Given the description of an element on the screen output the (x, y) to click on. 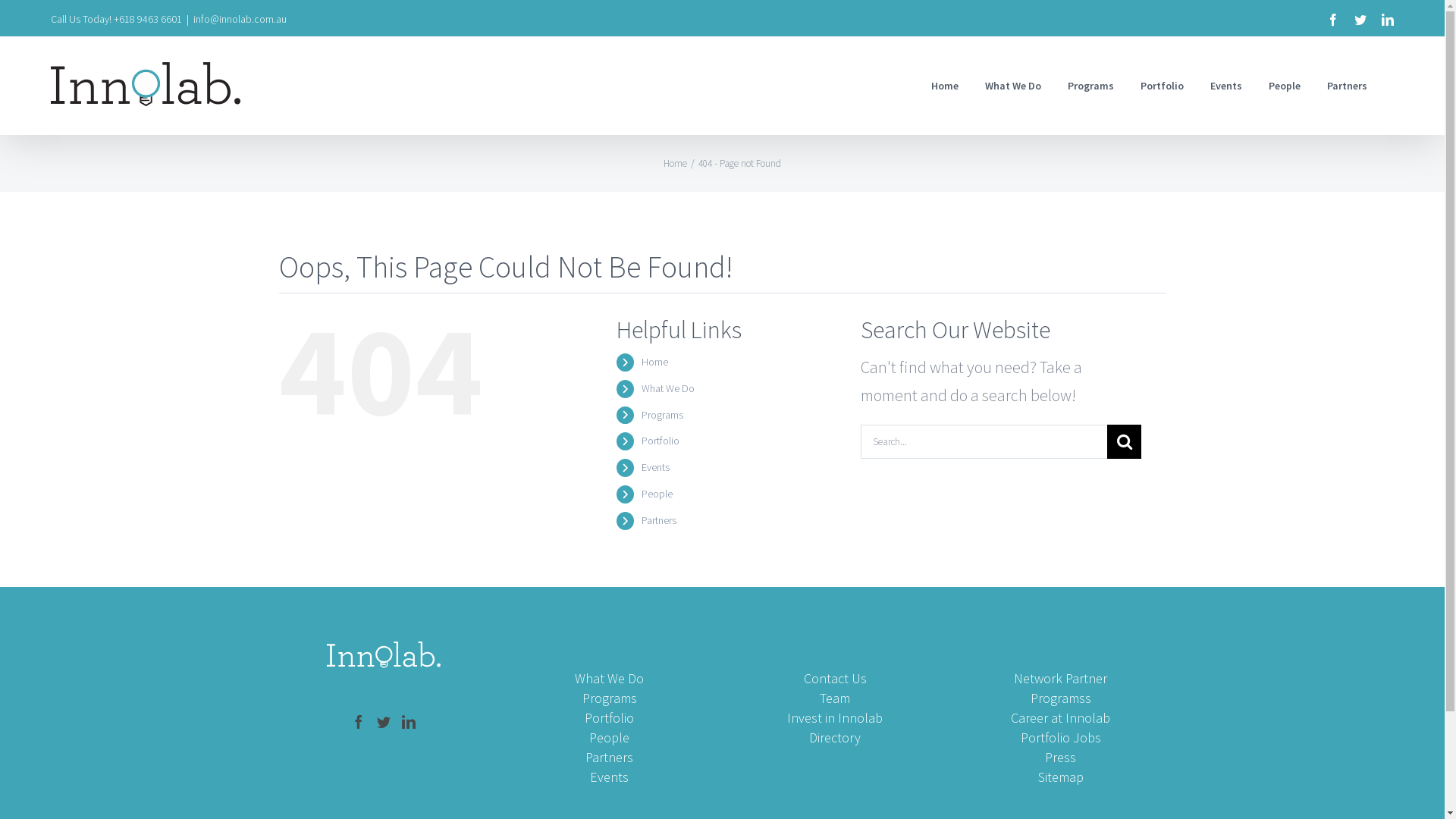
Events Element type: text (655, 466)
Partners Element type: text (658, 520)
Portfolio Element type: text (1161, 85)
People Element type: text (1284, 85)
Home Element type: text (944, 85)
What We Do Element type: text (667, 388)
Programs Element type: text (662, 414)
Facebook Element type: text (1333, 19)
Events Element type: text (1226, 85)
LinkedIn Element type: text (1387, 19)
Portfolio Element type: text (660, 440)
info@innolab.com.au Element type: text (239, 18)
What We Do Element type: text (1013, 85)
People Element type: text (656, 493)
Home Element type: text (675, 162)
Twitter Element type: text (1360, 19)
Home Element type: text (654, 361)
Programs Element type: text (1090, 85)
Partners Element type: text (1347, 85)
